Given the description of an element on the screen output the (x, y) to click on. 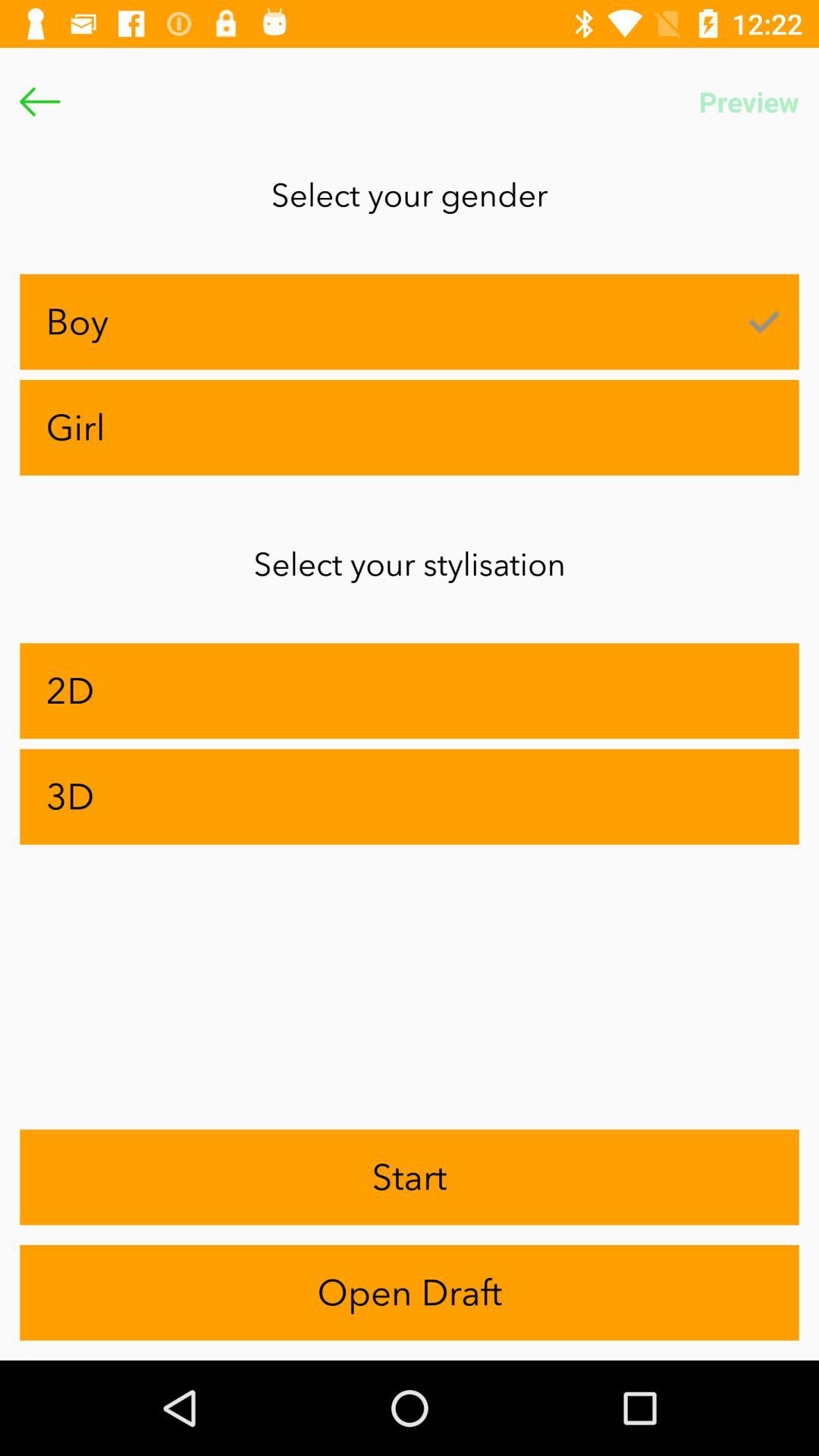
select icon above select your gender app (40, 101)
